Given the description of an element on the screen output the (x, y) to click on. 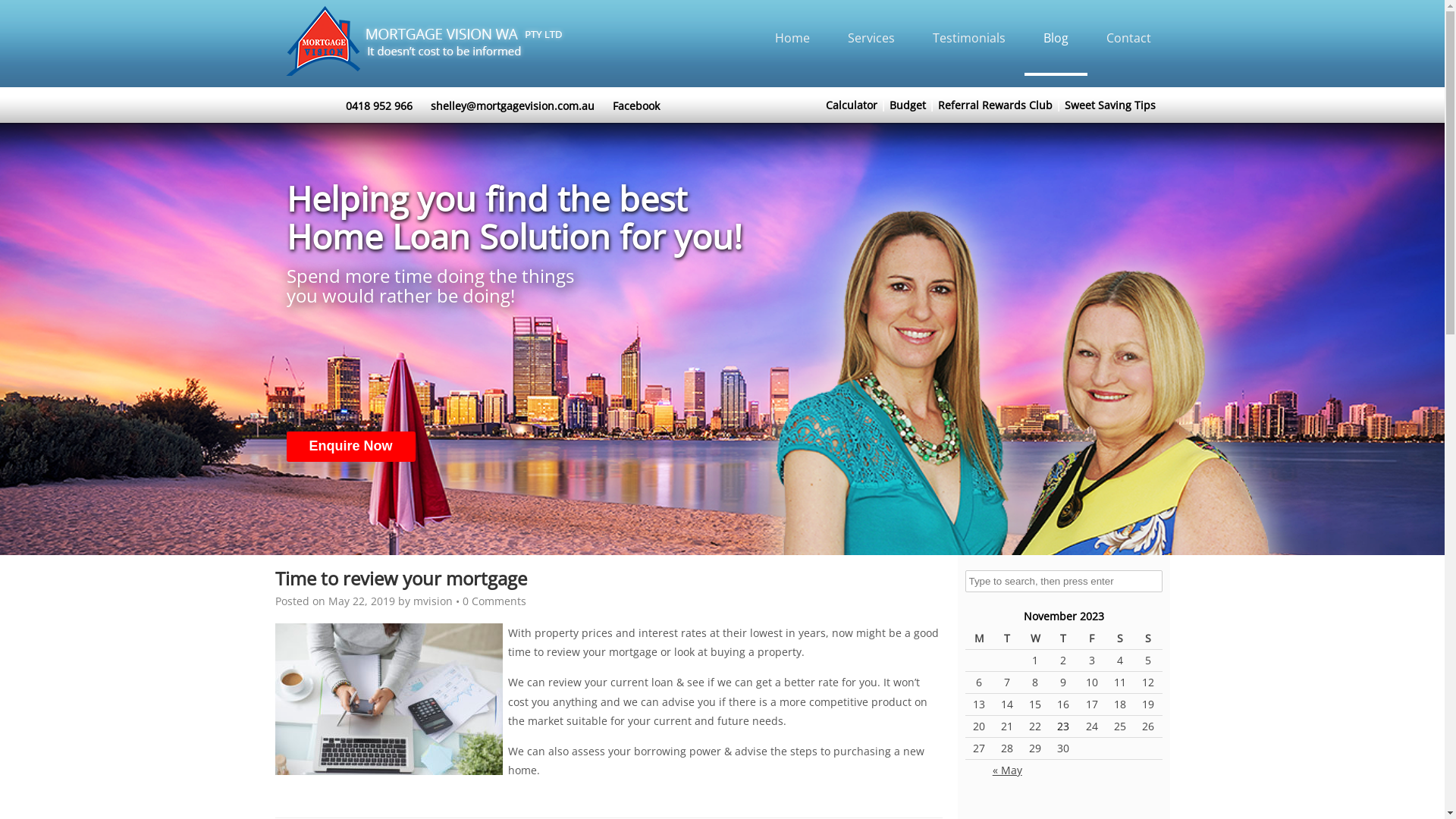
Services Element type: text (870, 37)
0 Comments Element type: text (494, 600)
Enquire Now Element type: text (350, 446)
Sweet Saving Tips Element type: text (1109, 104)
mvision Element type: text (431, 600)
Referral Rewards Club Element type: text (995, 104)
Facebook Element type: text (635, 105)
Home Element type: text (791, 37)
Time to review your mortgage Element type: text (400, 577)
Budget Element type: text (907, 104)
Calculator Element type: text (851, 104)
Testimonials Element type: text (968, 37)
Contact Element type: text (1128, 37)
Type to search, then press enter Element type: text (1062, 581)
shelley@mortgagevision.com.au Element type: text (512, 105)
Search Element type: text (23, 10)
Blog Element type: text (1054, 37)
Enquire Now Element type: text (350, 446)
